Given the description of an element on the screen output the (x, y) to click on. 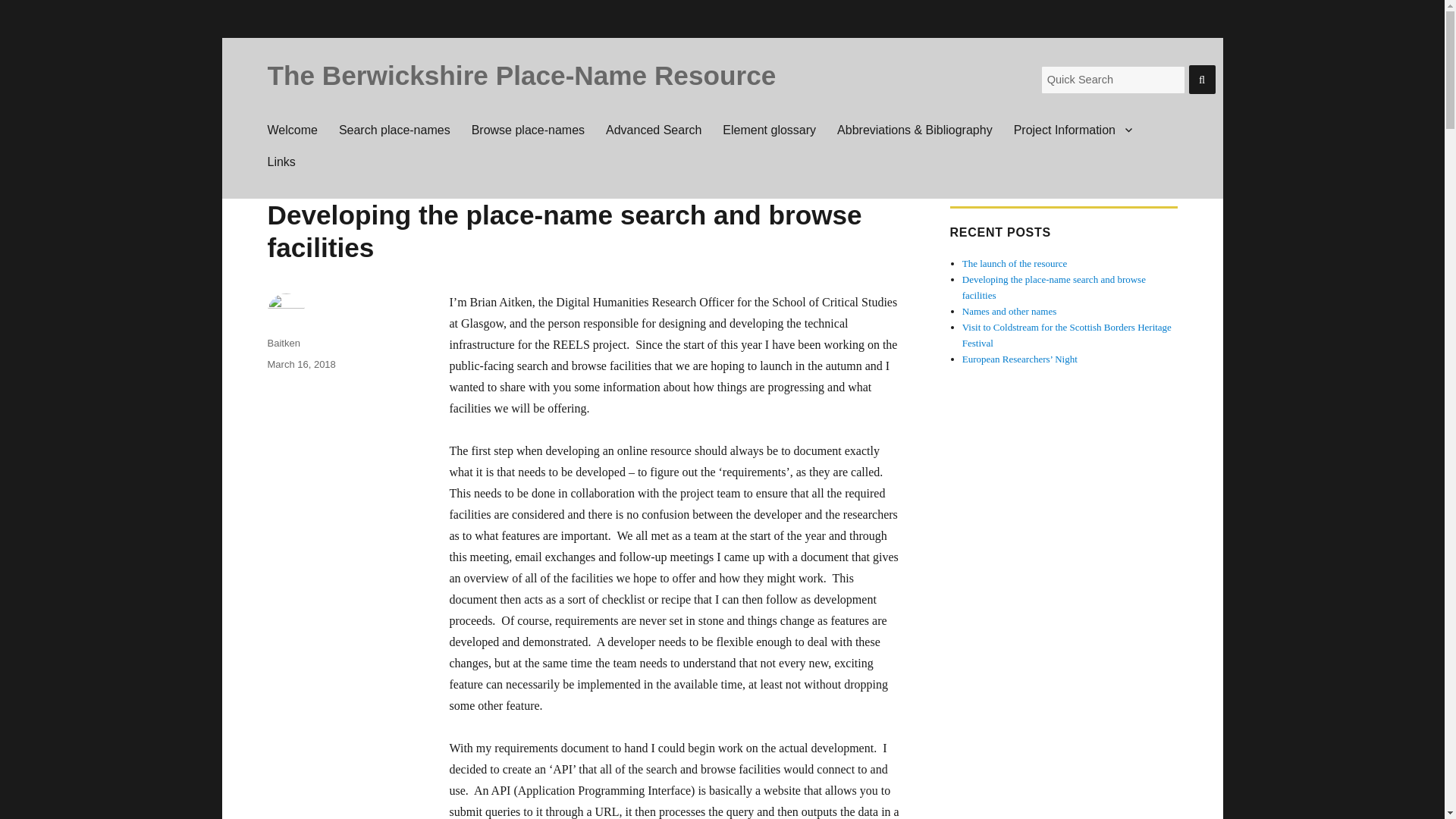
Links (280, 161)
Element glossary (769, 129)
March 16, 2018 (300, 364)
Welcome (291, 129)
Search place-names (395, 129)
Baitken (282, 342)
The launch of the resource (1014, 263)
Project Information (1072, 129)
Developing the place-name search and browse facilities (1053, 287)
Advanced Search (653, 129)
